Given the description of an element on the screen output the (x, y) to click on. 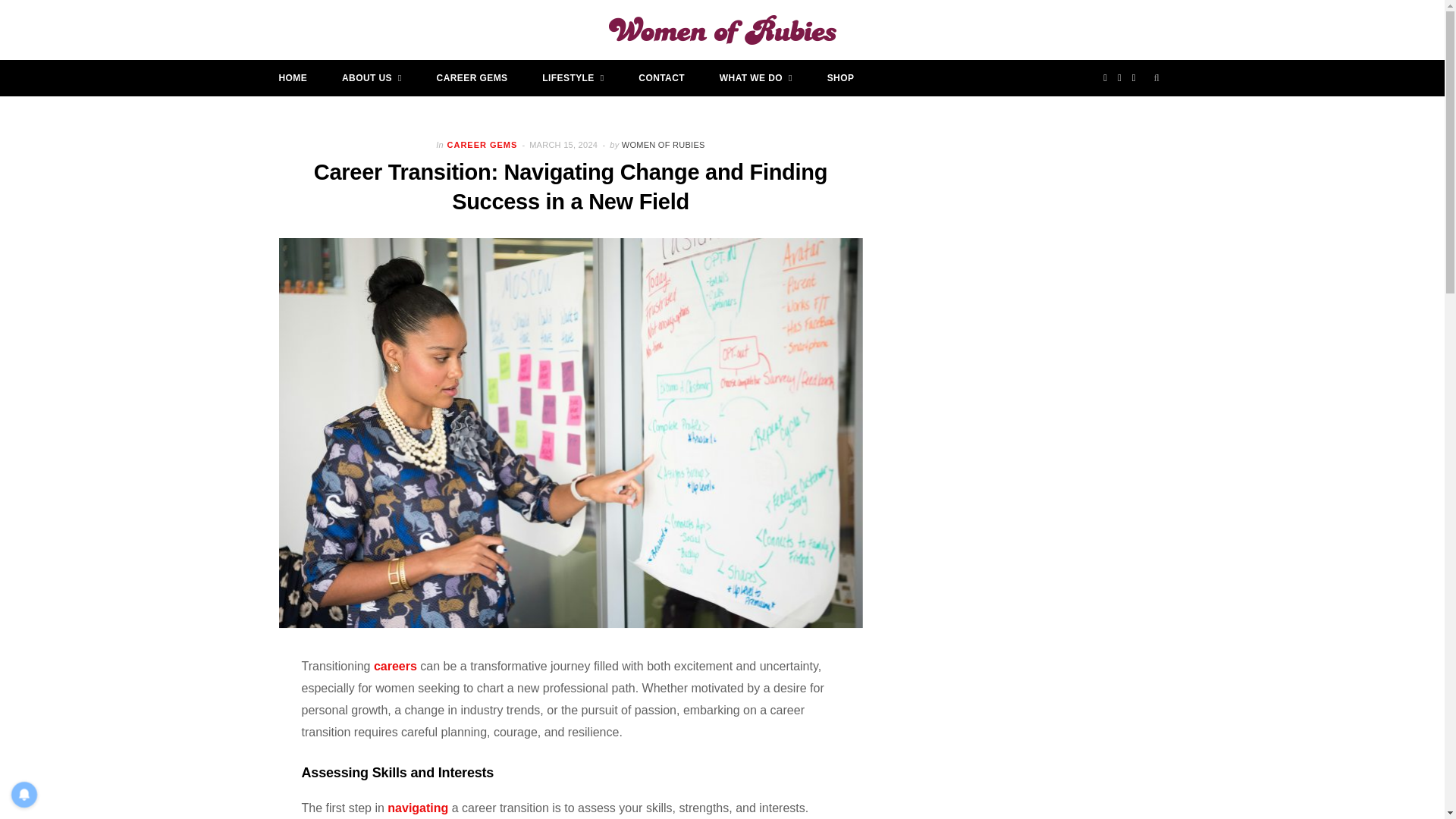
Women of Rubies (721, 30)
Advertisement (1059, 290)
Facebook (1105, 77)
SHOP (840, 77)
WOMEN OF RUBIES (662, 144)
LIFESTYLE (572, 77)
WHAT WE DO (755, 77)
navigating (417, 807)
HOME (292, 77)
CAREER GEMS (472, 77)
CONTACT (661, 77)
MARCH 15, 2024 (564, 144)
Posts by Women of Rubies (662, 144)
ABOUT US (371, 77)
